Given the description of an element on the screen output the (x, y) to click on. 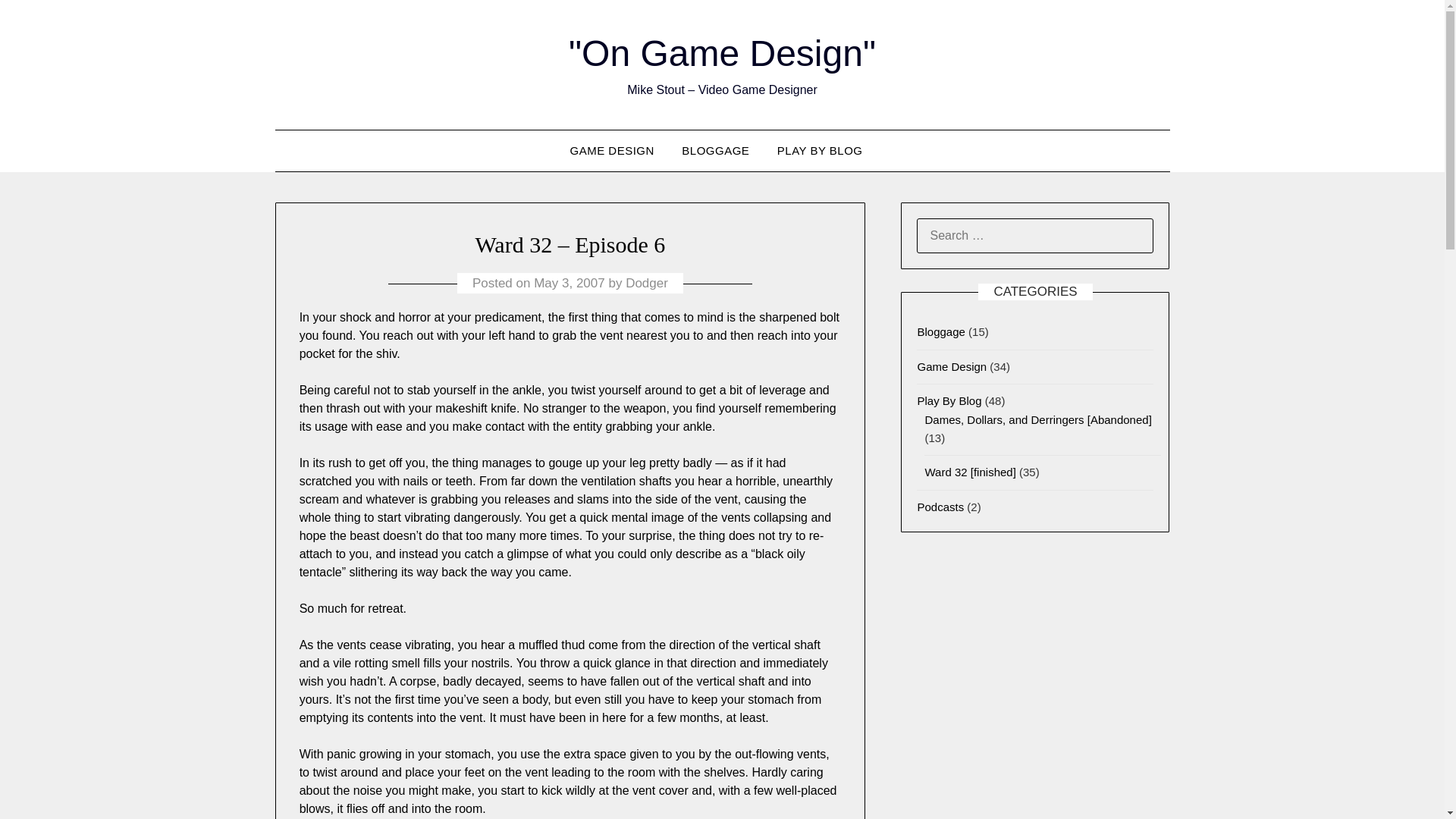
Podcasts (940, 506)
May 3, 2007 (569, 283)
Search (38, 22)
Play By Blog (949, 400)
"On Game Design" (722, 53)
Dodger (647, 283)
BLOGGAGE (715, 150)
Bloggage (940, 331)
PLAY BY BLOG (820, 150)
GAME DESIGN (617, 150)
